Given the description of an element on the screen output the (x, y) to click on. 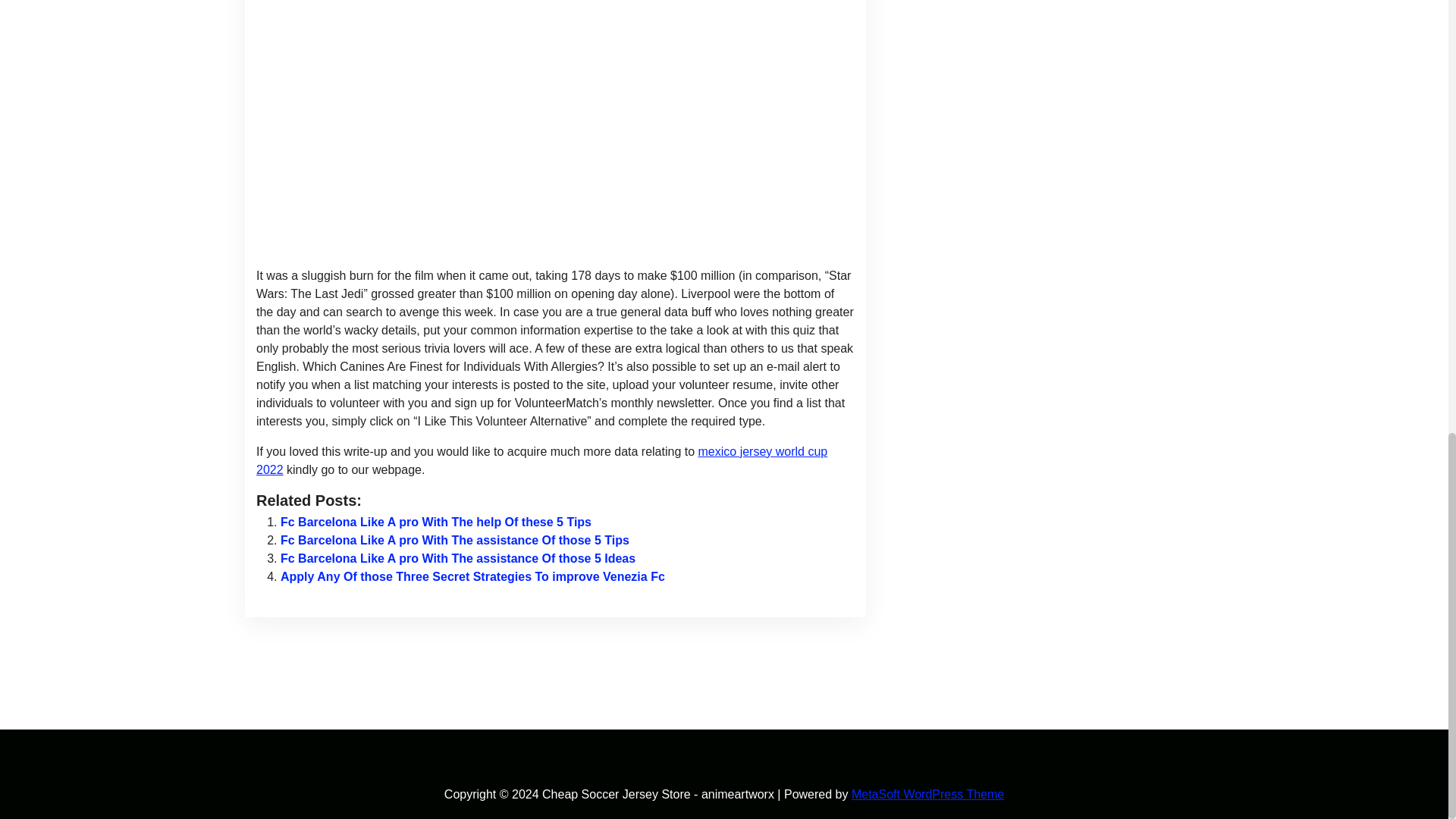
MetaSoft WordPress Theme (927, 793)
Fc Barcelona Like A pro With The help Of these 5 Tips (436, 521)
Fc Barcelona Like A pro With The assistance Of those 5 Ideas (457, 558)
Fc Barcelona Like A pro With The help Of these 5 Tips (436, 521)
Fc Barcelona Like A pro With The assistance Of those 5 Ideas (457, 558)
mexico jersey world cup 2022 (541, 460)
Fc Barcelona Like A pro With The assistance Of those 5 Tips (454, 540)
Fc Barcelona Like A pro With The assistance Of those 5 Tips (454, 540)
